Given the description of an element on the screen output the (x, y) to click on. 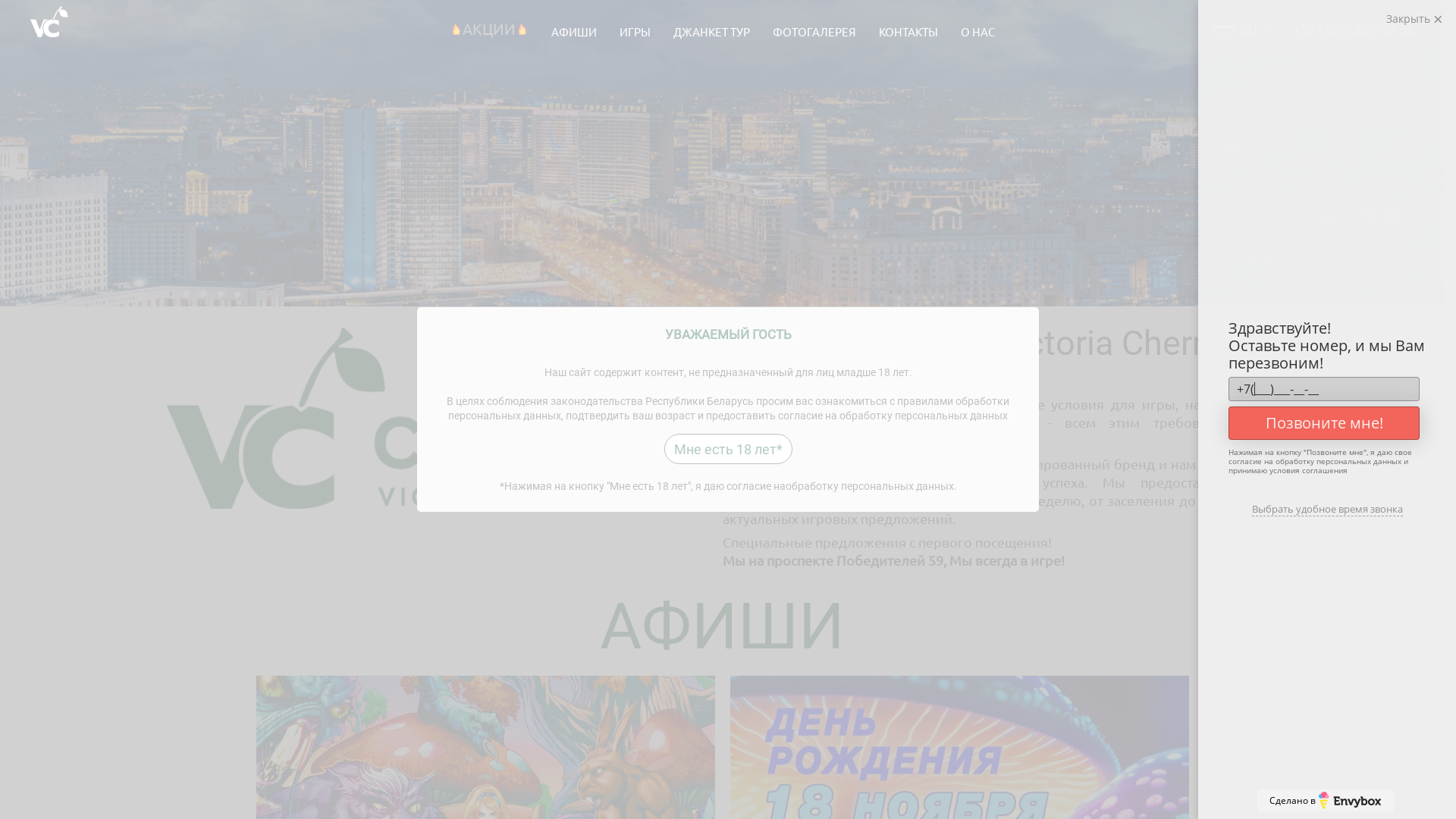
+375 (29) 305-58-58 Element type: text (1353, 29)
